Given the description of an element on the screen output the (x, y) to click on. 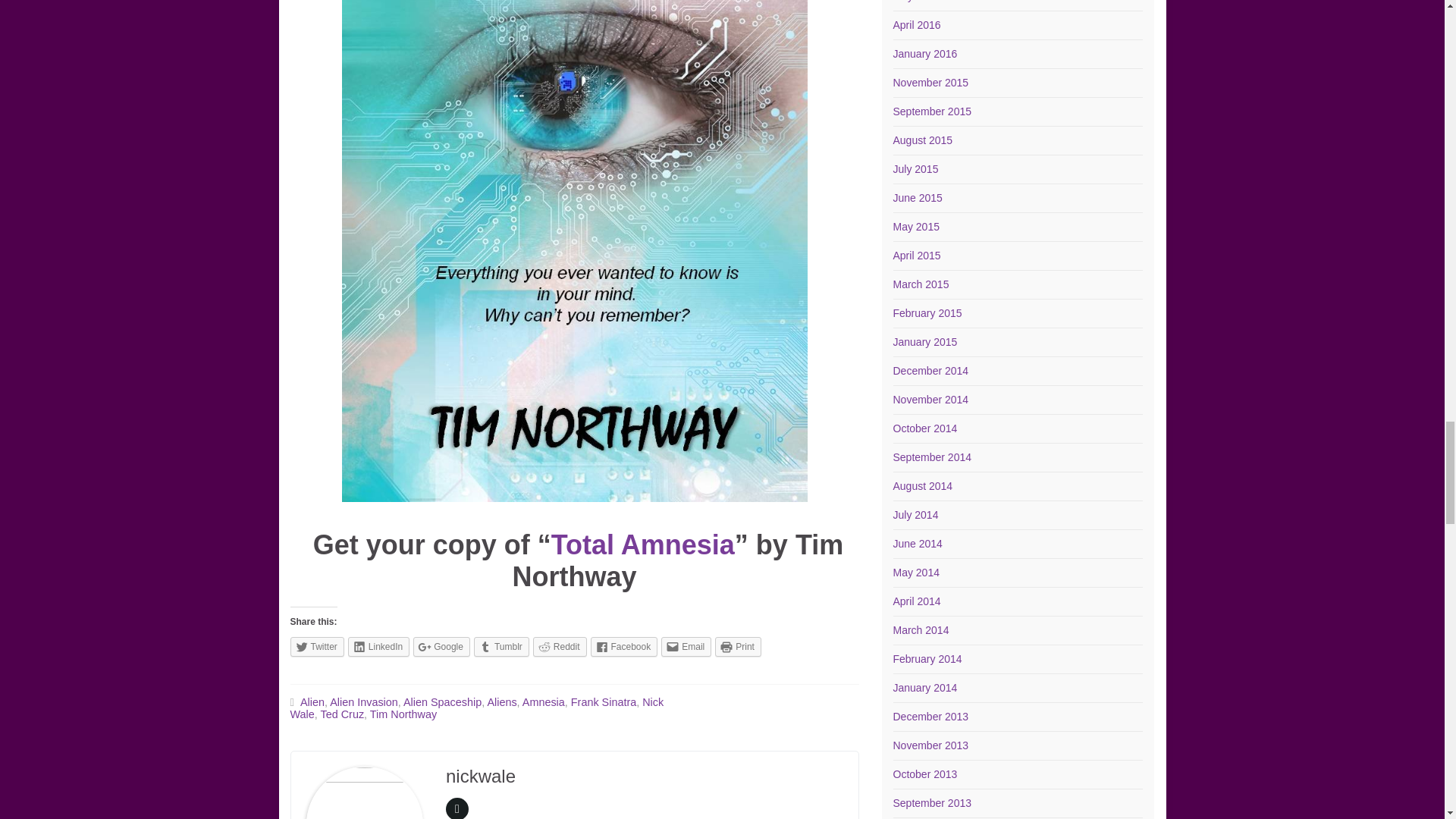
Aliens (501, 702)
Click to share on Reddit (559, 646)
Nick Wale (476, 708)
Click to share on Tumblr (501, 646)
Tim Northway (402, 714)
Email (686, 646)
LinkedIn (378, 646)
Facebook (623, 646)
Twitter (316, 646)
Alien Spaceship (442, 702)
Click to print (737, 646)
Frank Sinatra (603, 702)
Click to email this to a friend (686, 646)
Ted Cruz (342, 714)
Alien (311, 702)
